Given the description of an element on the screen output the (x, y) to click on. 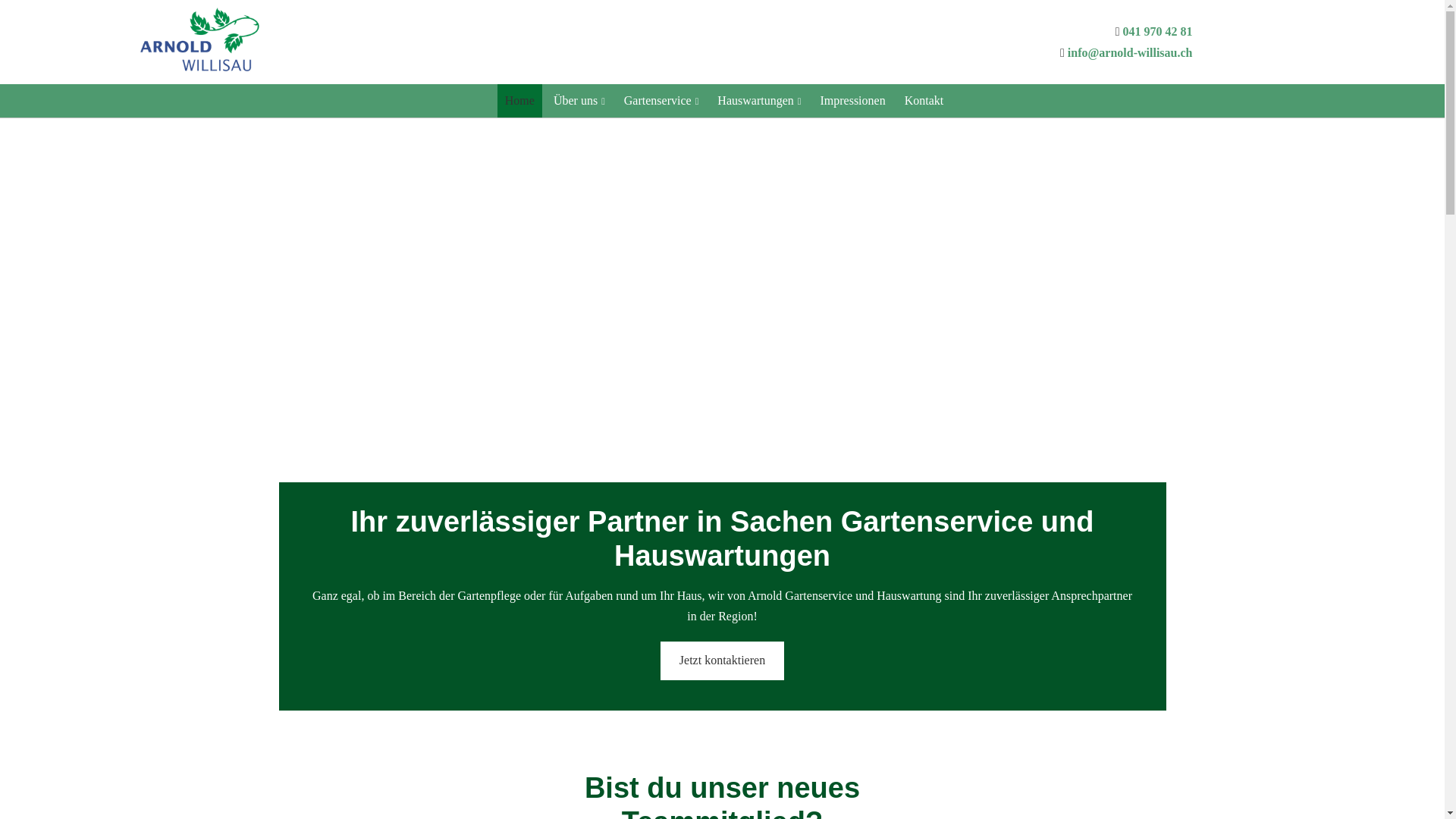
Kontakt Element type: text (924, 100)
Home Element type: text (519, 100)
Hauswartungen Element type: text (758, 100)
Impressionen Element type: text (852, 100)
Gartenservice Element type: text (661, 100)
info@arnold-willisau.ch Element type: text (1129, 52)
Jetzt kontaktieren Element type: text (722, 660)
041 970 42 81 Element type: text (1157, 31)
